Given the description of an element on the screen output the (x, y) to click on. 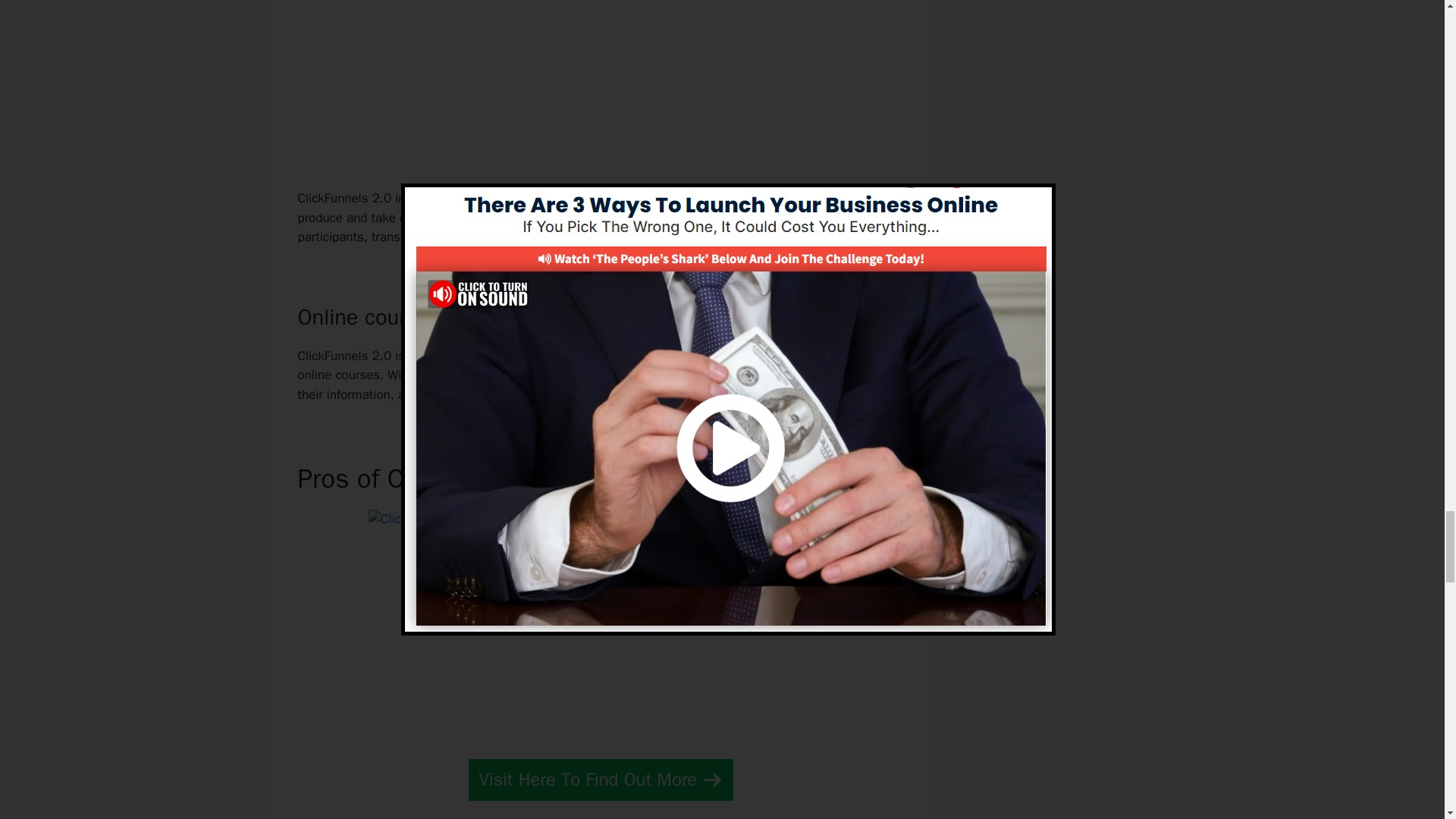
membership sites (492, 217)
Visit Here To Find Out More (600, 779)
